Given the description of an element on the screen output the (x, y) to click on. 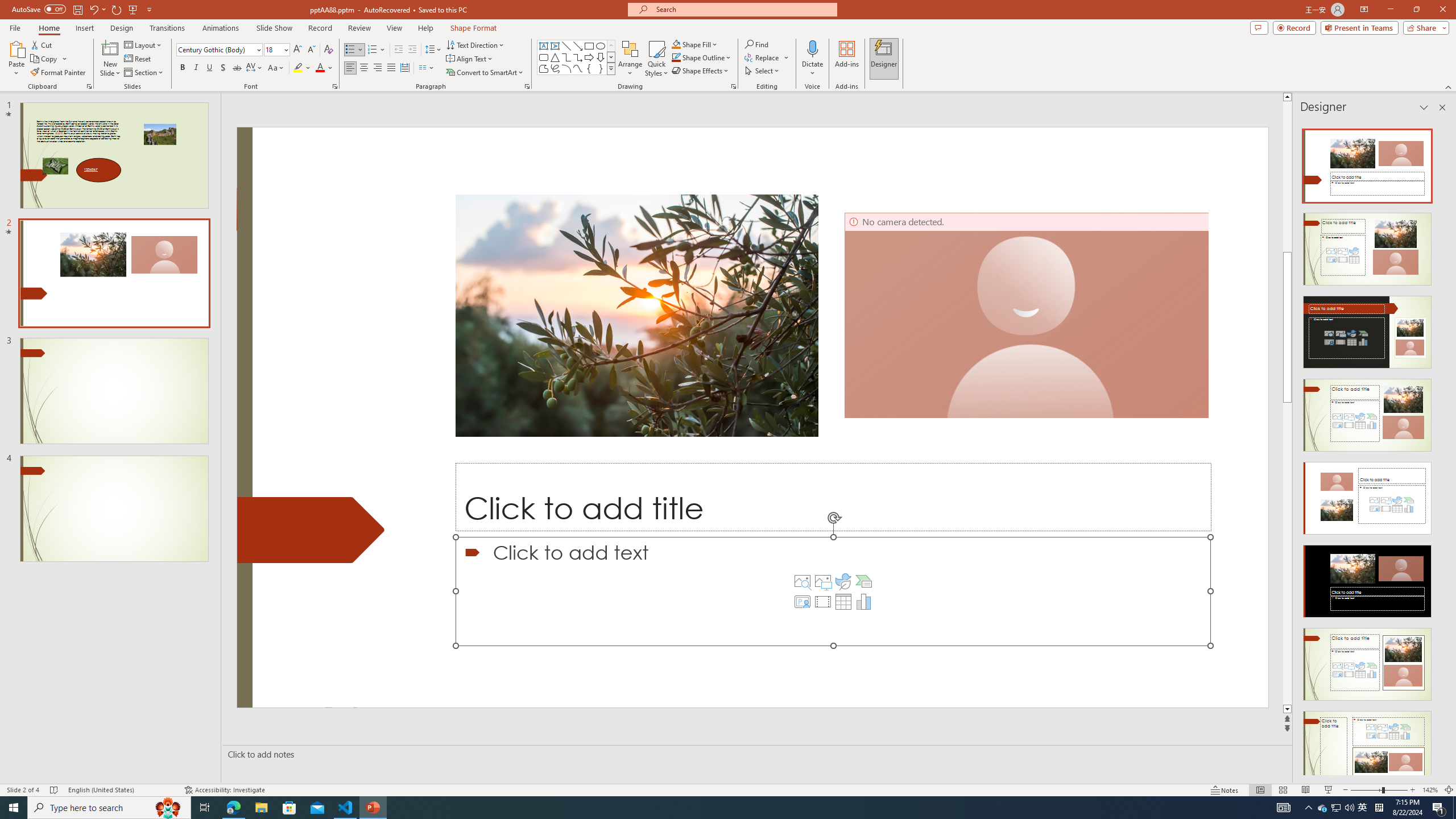
Font Size (273, 49)
Shadow (223, 67)
Replace... (762, 56)
Microsoft search (742, 9)
Bold (182, 67)
Font (219, 49)
Shape Fill Aqua, Accent 2 (675, 44)
Notes  (1225, 790)
Format Object... (733, 85)
Camera 7, No camera detected. (1026, 315)
Copy (45, 58)
Title TextBox (833, 496)
